Given the description of an element on the screen output the (x, y) to click on. 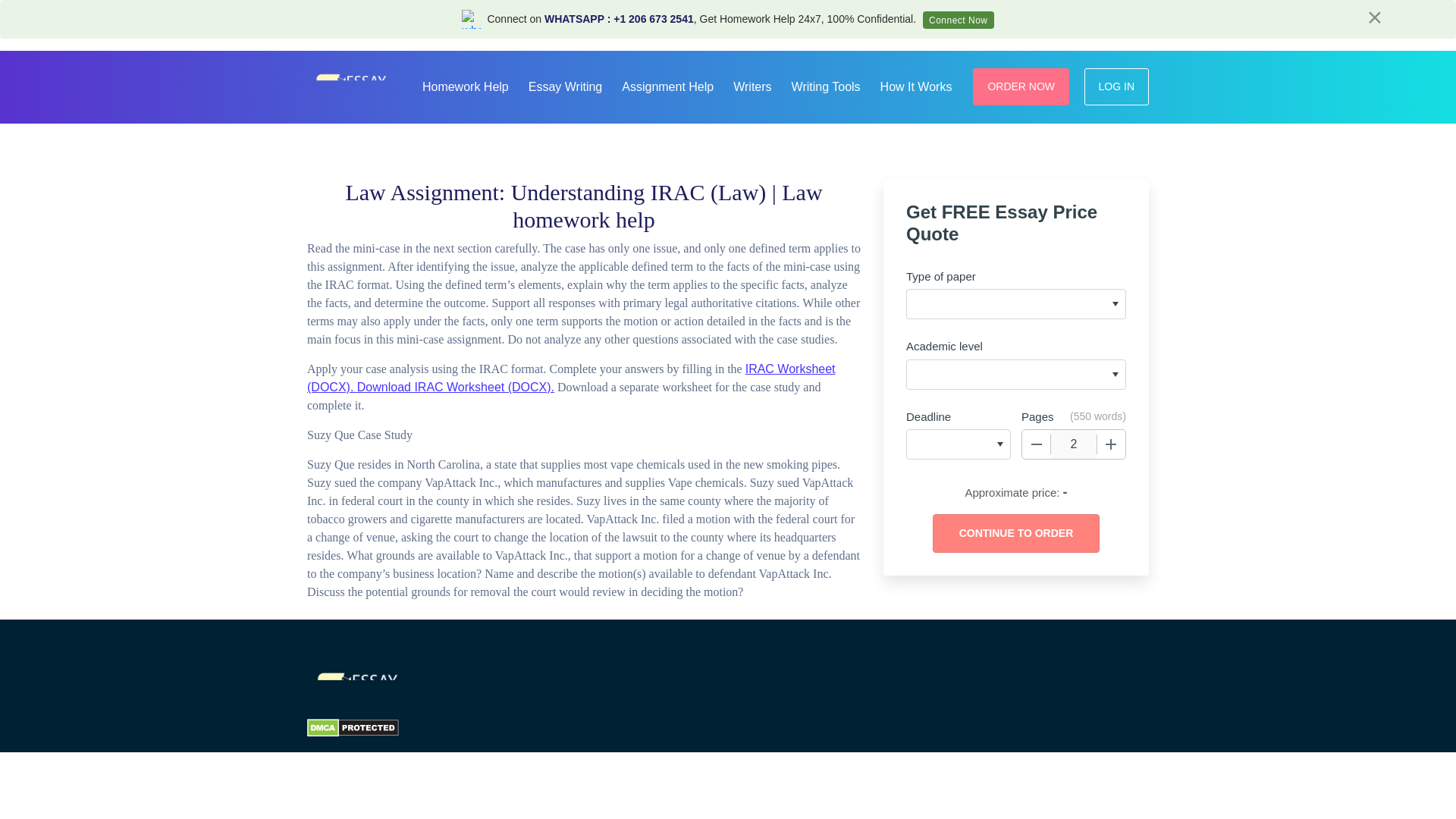
Continue to order (1016, 533)
2 (1073, 443)
Writers (751, 84)
Writing Tools (826, 84)
Writing Tools (826, 84)
Homework Help (465, 84)
Increase (1110, 443)
Essay Writing (565, 84)
Continue to order (1016, 533)
How It Works (916, 84)
